Given the description of an element on the screen output the (x, y) to click on. 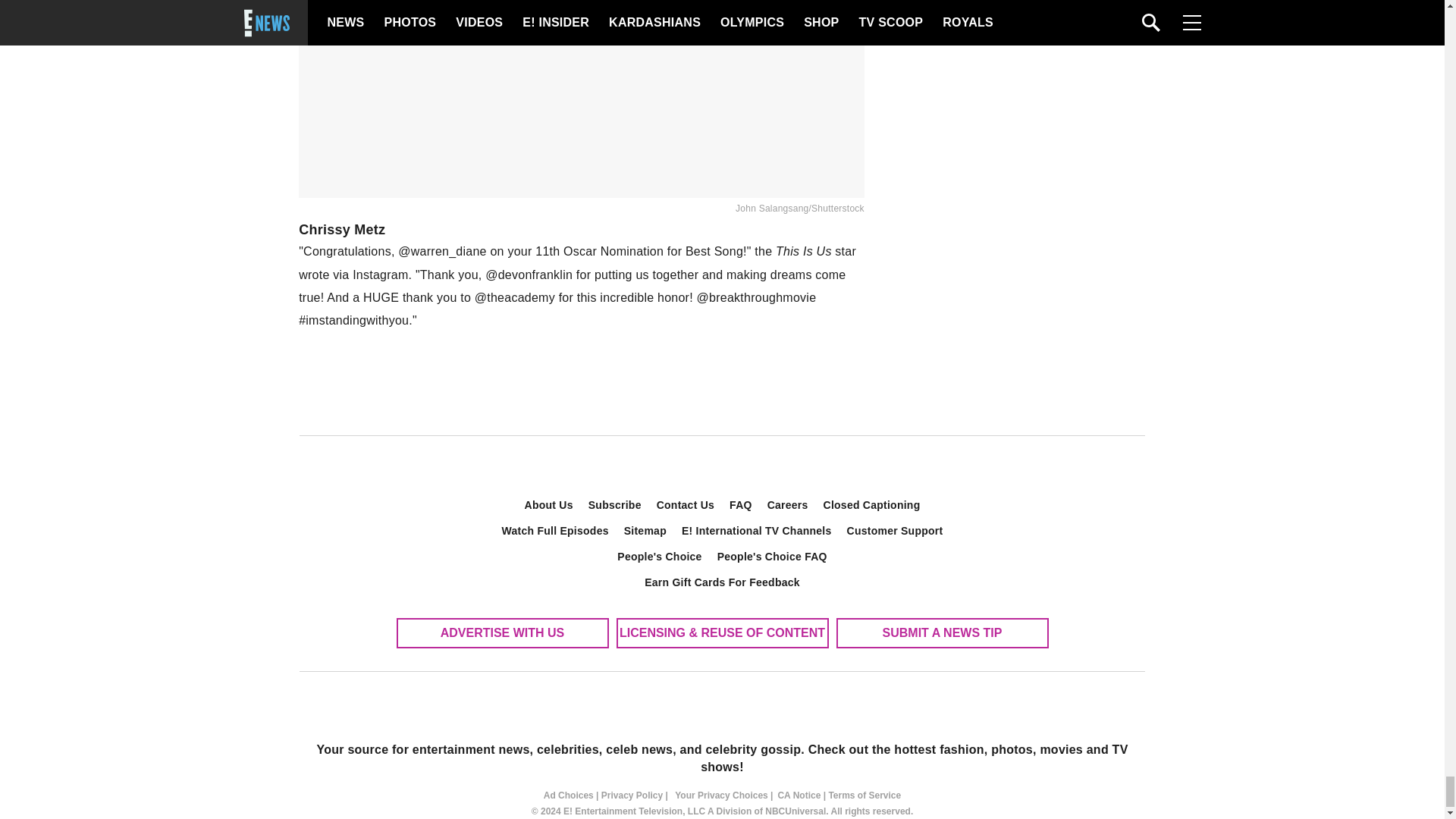
Contact Us (685, 504)
Subscribe (614, 504)
About Us (548, 504)
Careers (787, 504)
Closed Captioning (871, 504)
FAQ (741, 504)
